Given the description of an element on the screen output the (x, y) to click on. 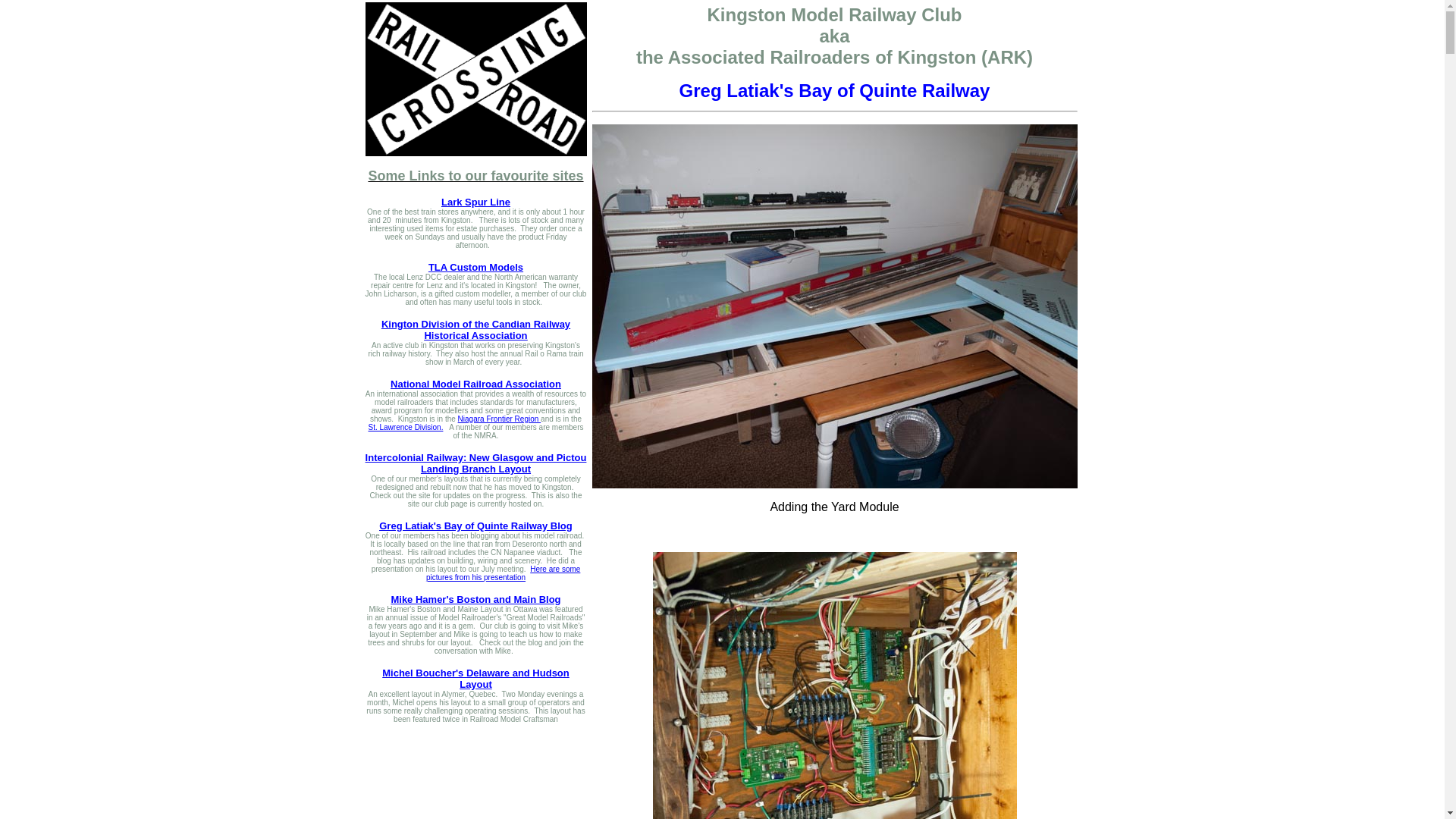
Here are some pictures from his presentation (502, 573)
National Model Railroad Association (475, 382)
Niagara Frontier Region (499, 417)
St. Lawrence Division. (474, 429)
TLA Custom Models (475, 266)
Lark Spur Line (476, 201)
Michel Boucher's Delaware and Hudson Layout (475, 677)
Greg Latiak's Bay of Quinte Railway Blog (475, 524)
